Given the description of an element on the screen output the (x, y) to click on. 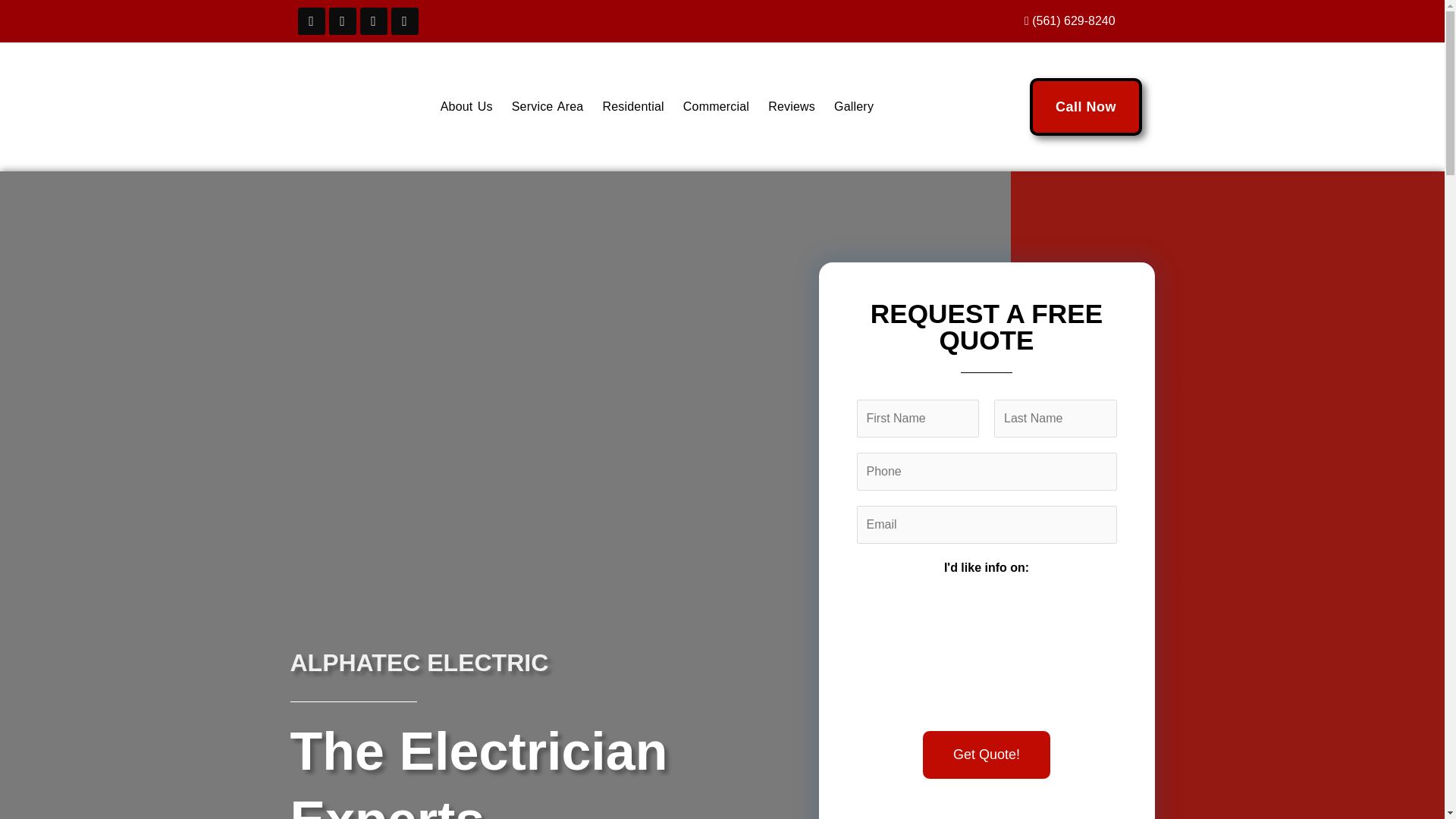
Map-marker-alt (342, 21)
Choice 2 (983, 652)
Yelp (405, 21)
Service Area (547, 106)
About Us (466, 106)
Commercial (716, 106)
Youtube (373, 21)
Choice 1 (897, 652)
Choice 3 (1070, 652)
Residential (632, 106)
